Given the description of an element on the screen output the (x, y) to click on. 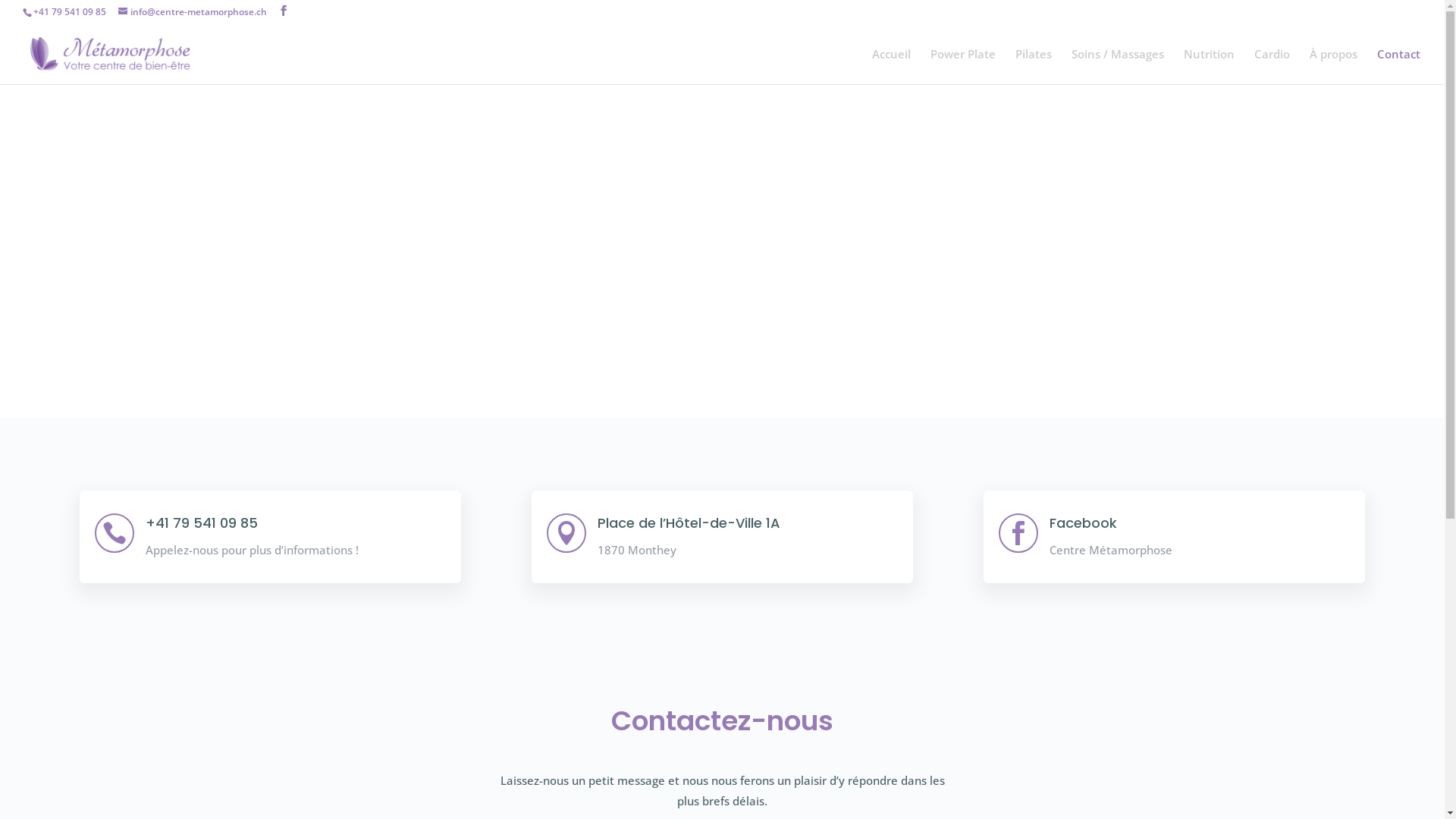
Facebook Element type: text (1083, 522)
info@centre-metamorphose.ch Element type: text (192, 11)
Nutrition Element type: text (1208, 66)
Soins / Massages Element type: text (1117, 66)
Accueil Element type: text (891, 66)
Pilates Element type: text (1033, 66)
Contact Element type: text (1398, 66)
Cardio Element type: text (1271, 66)
Power Plate Element type: text (962, 66)
